Given the description of an element on the screen output the (x, y) to click on. 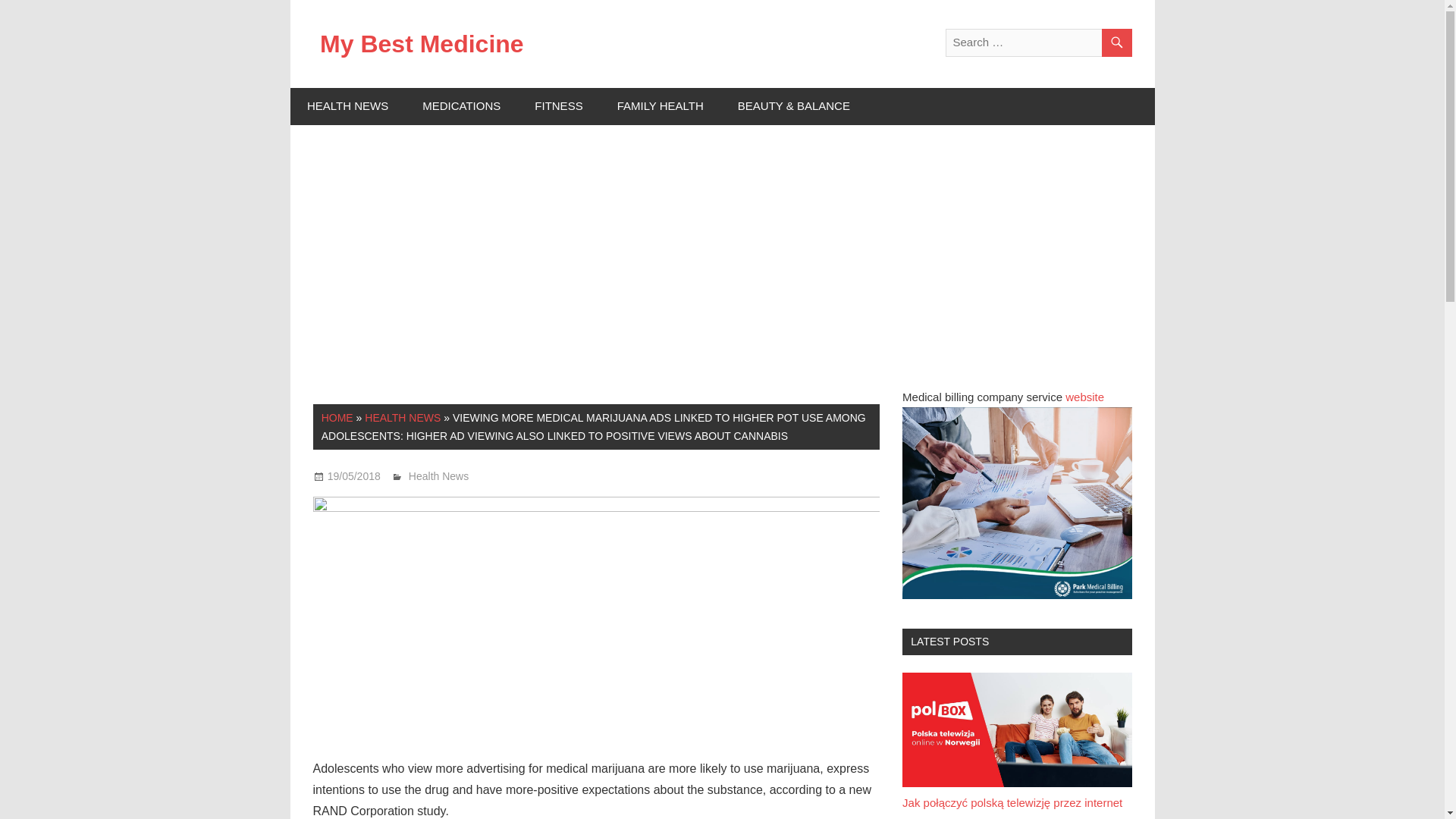
HEALTH NEWS (346, 106)
01:33 (353, 476)
MEDICATIONS (462, 106)
Health News (438, 476)
FAMILY HEALTH (659, 106)
HEALTH NEWS (403, 417)
Search for: (1037, 42)
My Best Medicine (422, 43)
HOME (337, 417)
FITNESS (558, 106)
website (1084, 396)
